Given the description of an element on the screen output the (x, y) to click on. 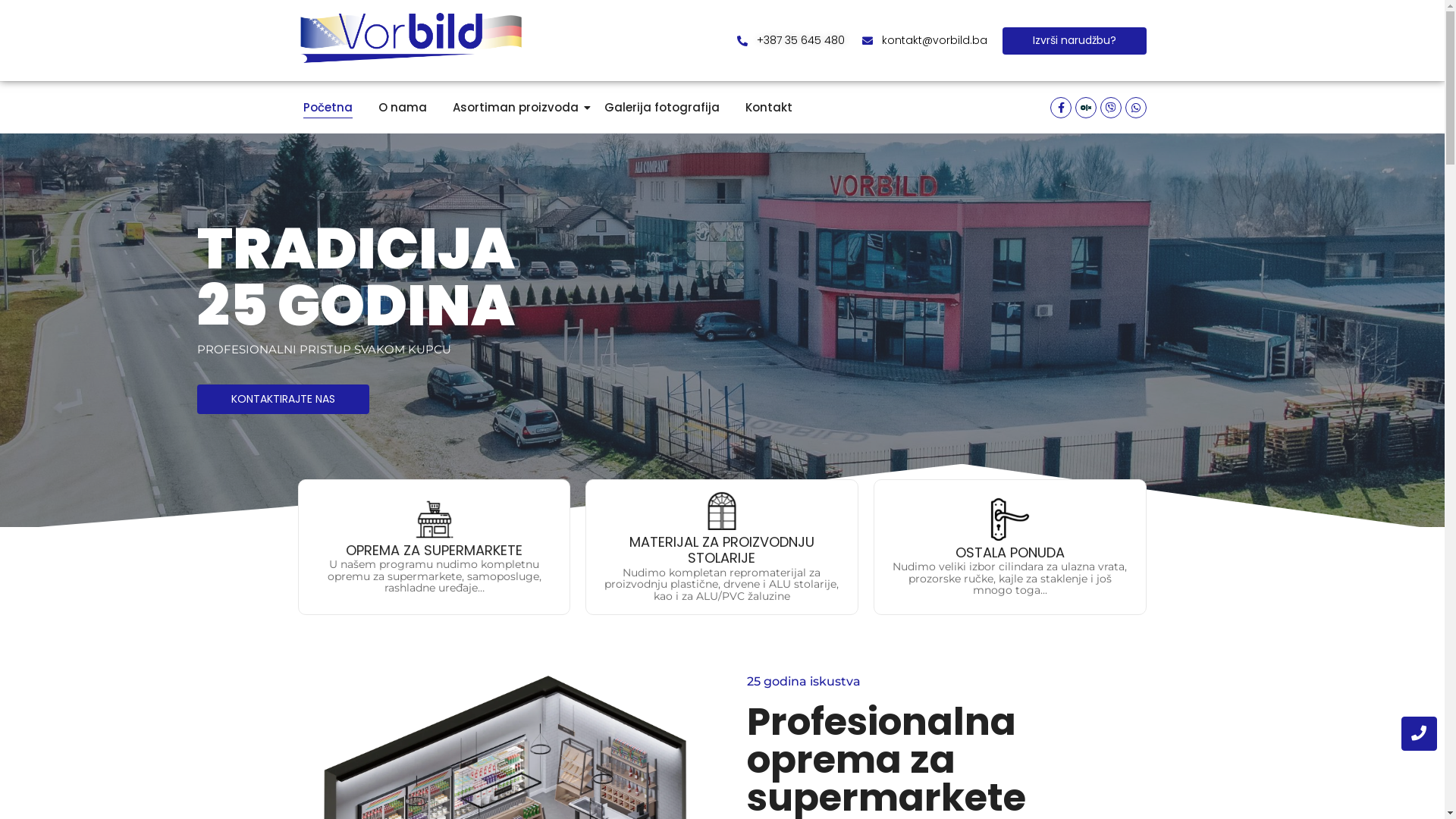
O nama Element type: text (402, 107)
kontakt@vorbild.ba Element type: text (923, 40)
KONTAKTIRAJTE NAS Element type: text (283, 399)
OPREMA ZA SUPERMARKETE Element type: text (433, 549)
+387 35 645 480 Element type: text (789, 40)
Galerija fotografija Element type: text (661, 107)
Asortiman proizvoda Element type: text (515, 107)
Kontakt Element type: text (768, 107)
